Given the description of an element on the screen output the (x, y) to click on. 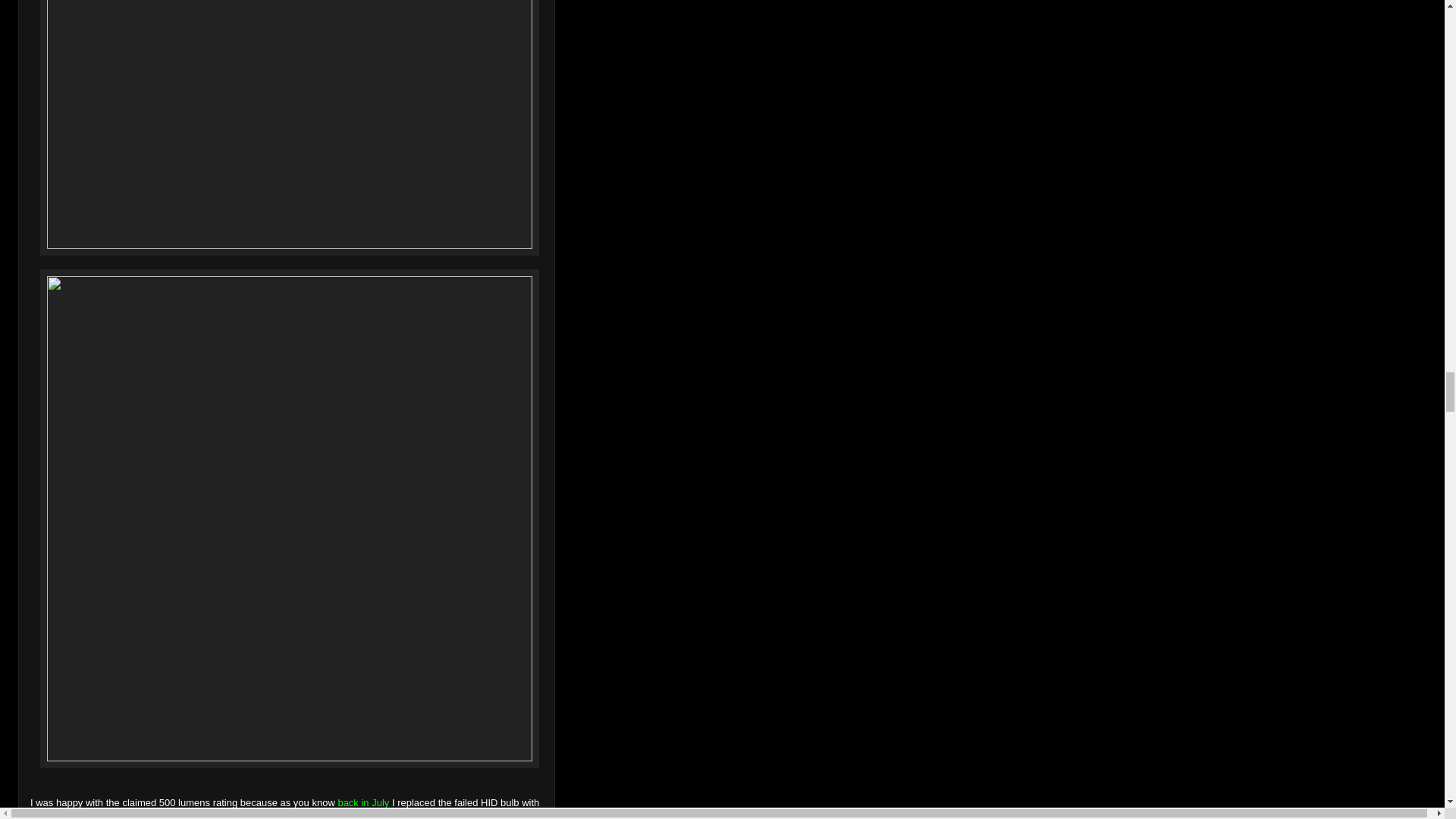
back in July (362, 802)
